Given the description of an element on the screen output the (x, y) to click on. 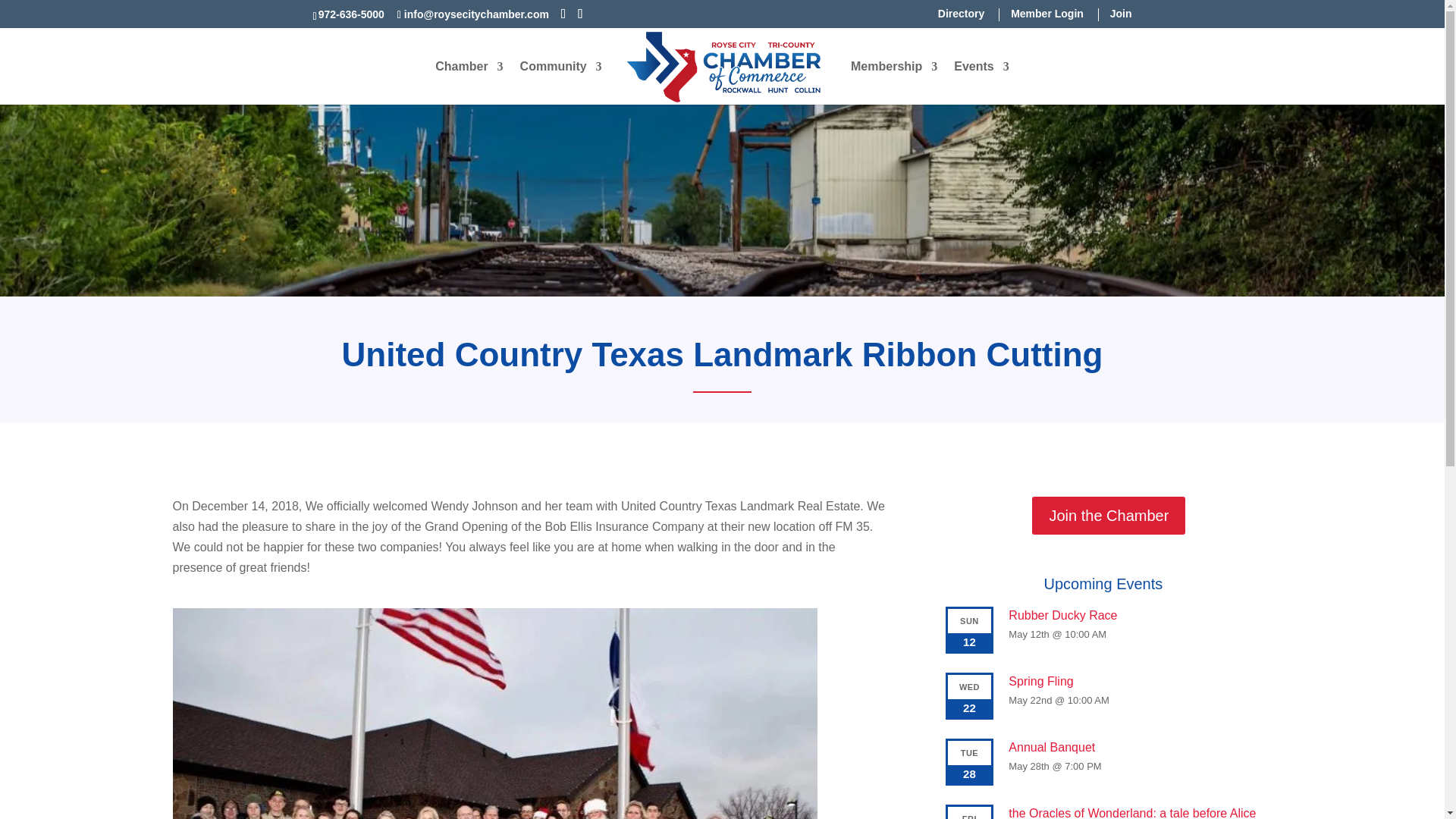
Member Login (1040, 14)
Membership (893, 79)
Join (1114, 14)
Directory (955, 14)
Events (981, 79)
Chamber (468, 79)
Community (560, 79)
